Given the description of an element on the screen output the (x, y) to click on. 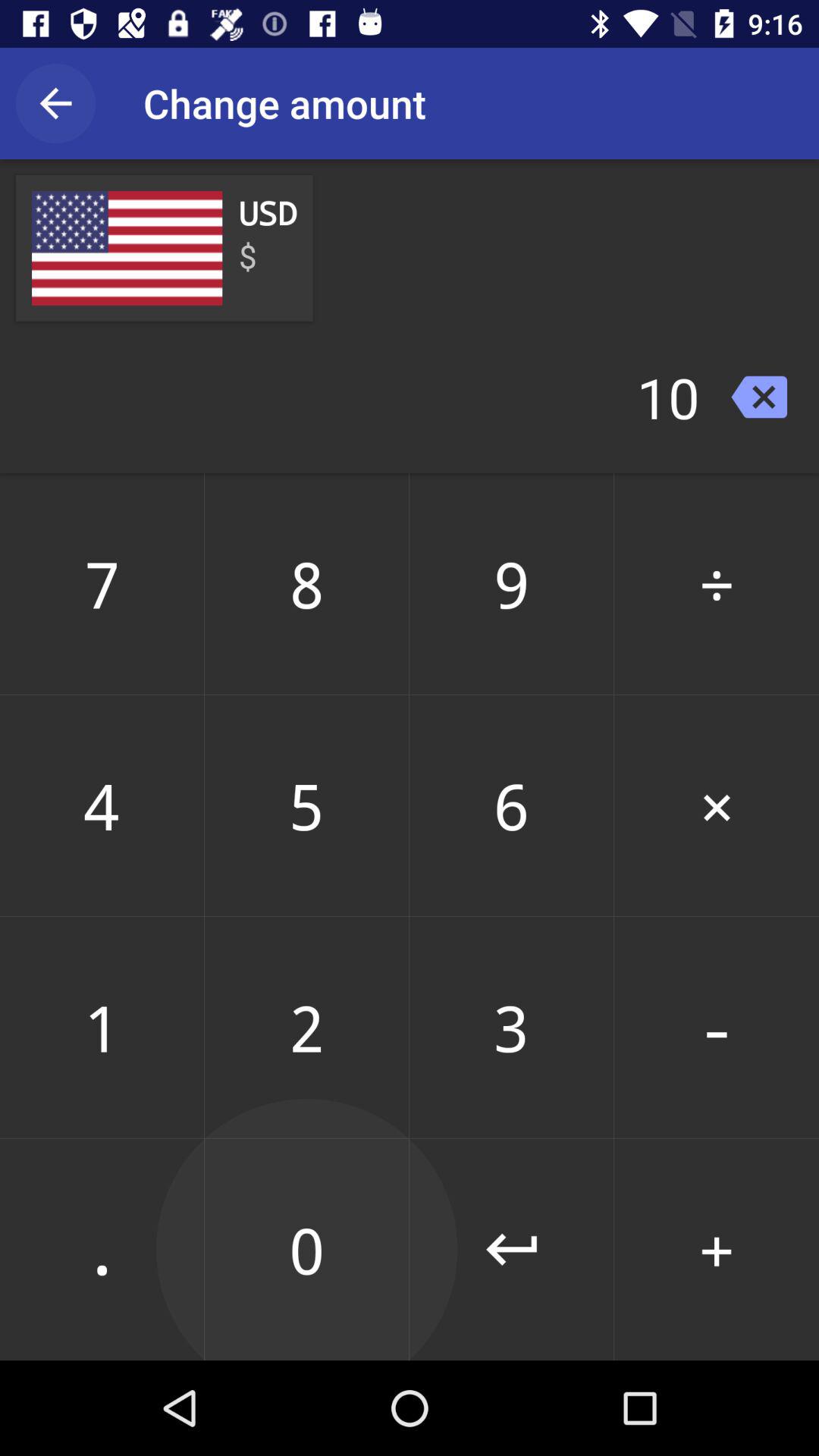
launch the item below 8 icon (511, 805)
